Given the description of an element on the screen output the (x, y) to click on. 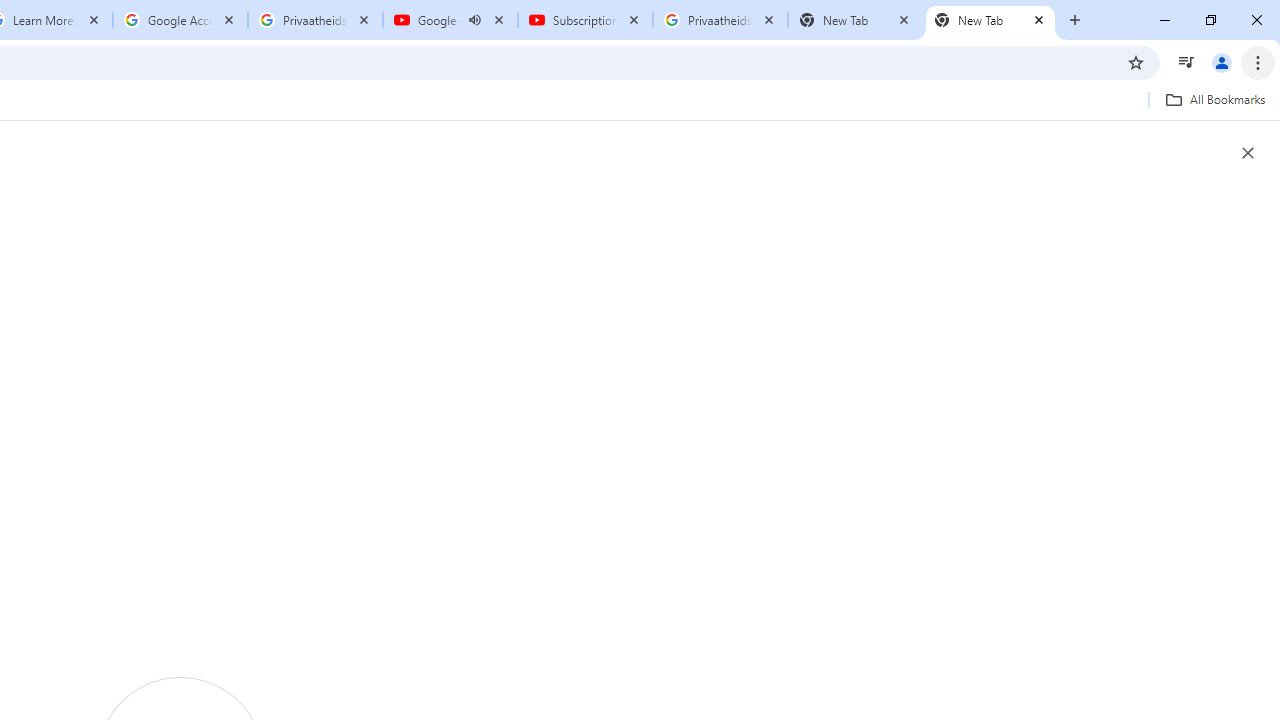
Google Account (180, 20)
New Tab (990, 20)
Google - YouTube - Audio playing (450, 20)
Subscriptions - YouTube (585, 20)
